Given the description of an element on the screen output the (x, y) to click on. 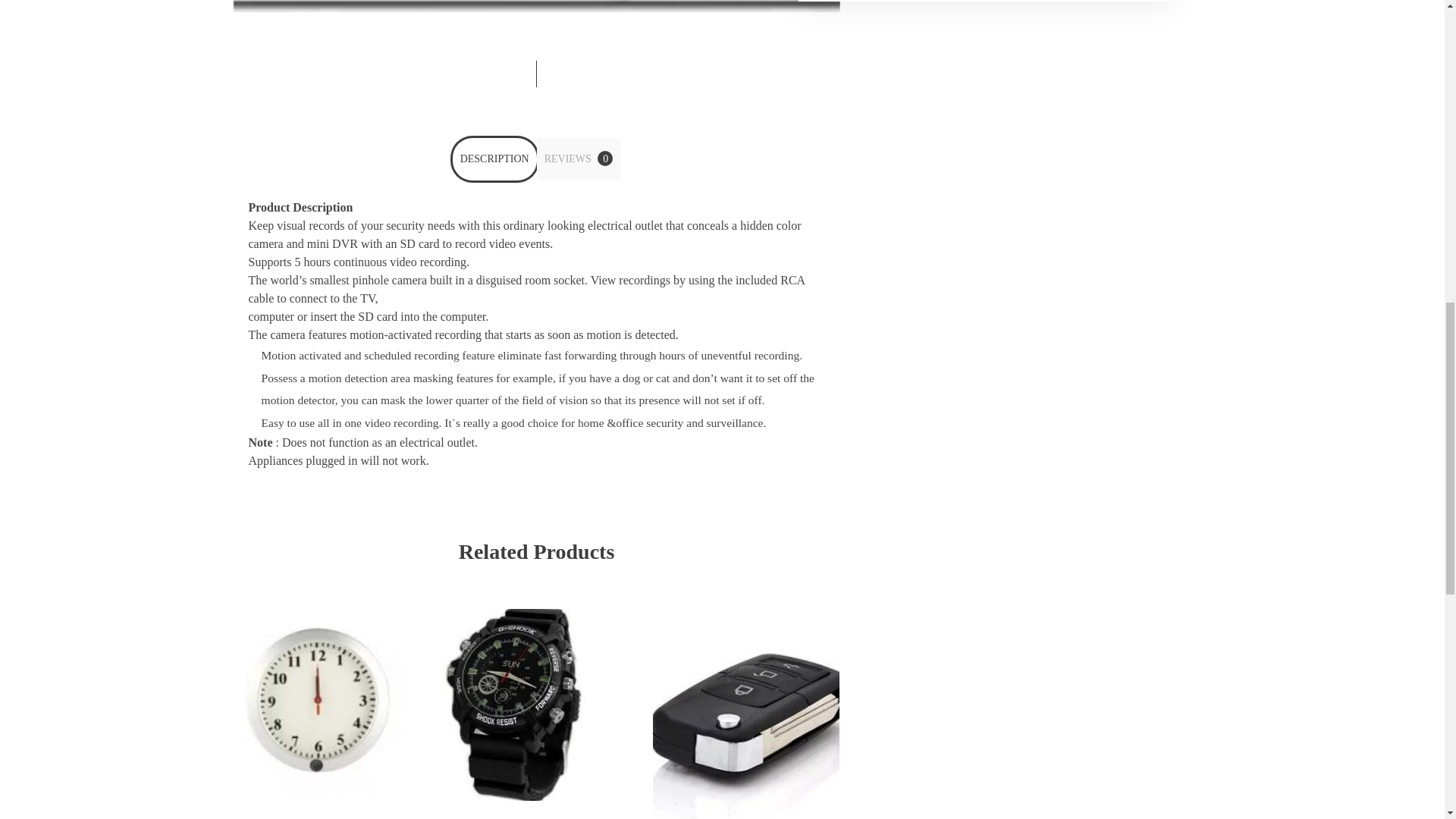
DESCRIPTION (494, 159)
Home Wall Socket Camera With High Quality Video Recorder (536, 6)
REVIEWS 0 (579, 159)
